Given the description of an element on the screen output the (x, y) to click on. 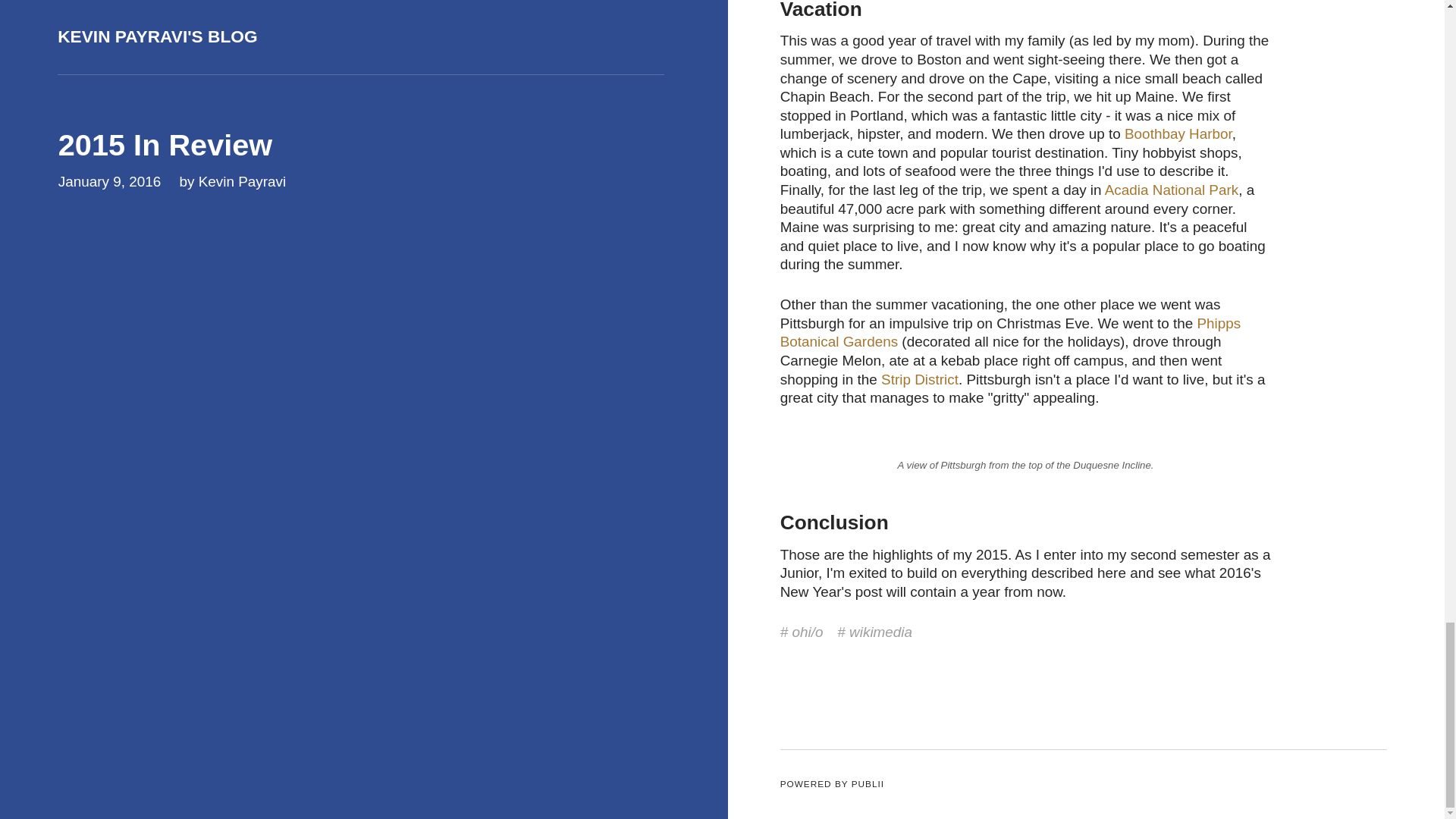
Phipps Botanical Gardens (1010, 332)
Strip District (919, 379)
Acadia National Park (1172, 189)
wikimedia (874, 631)
Boothbay Harbor (1177, 133)
